Given the description of an element on the screen output the (x, y) to click on. 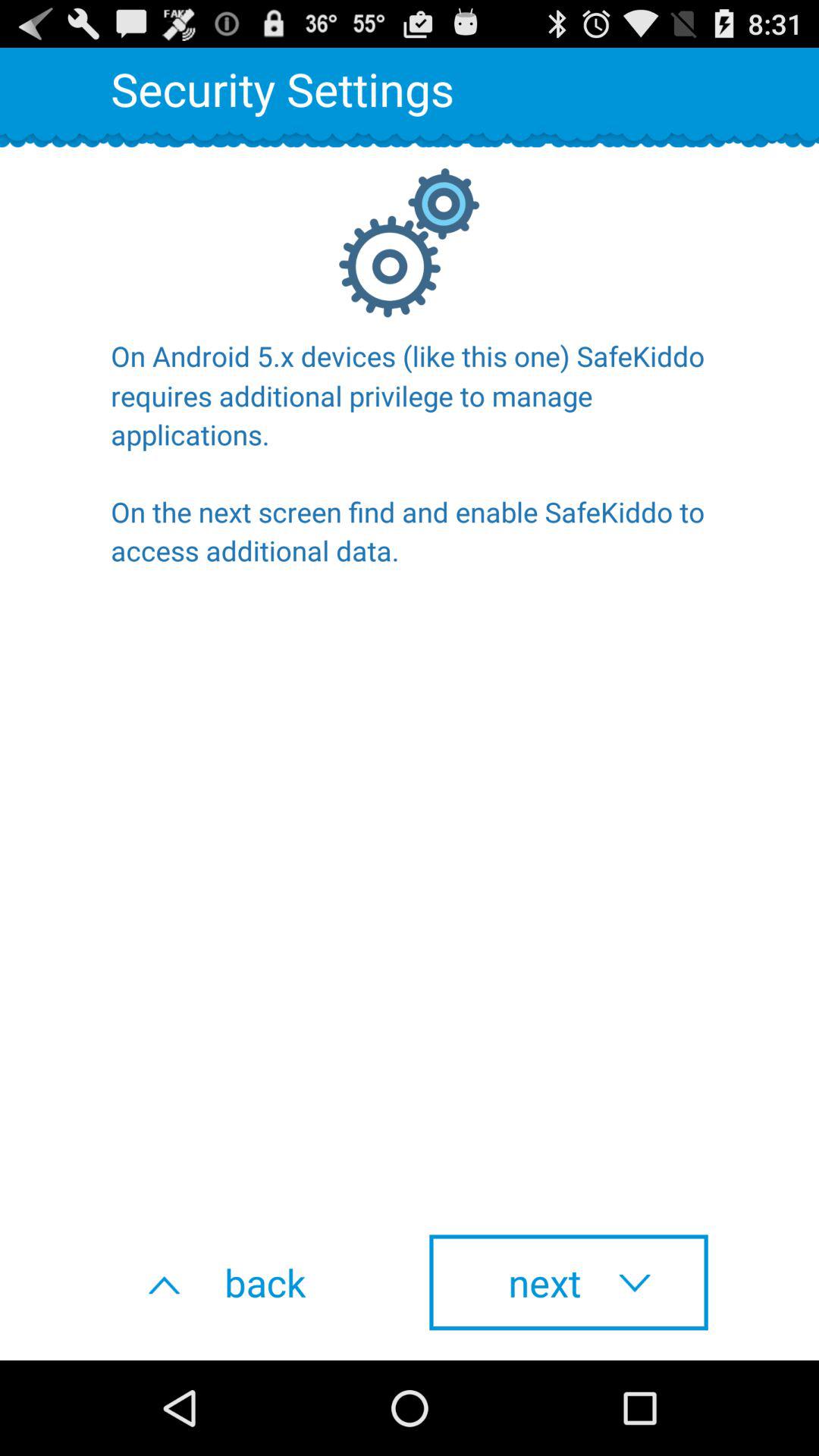
flip to back button (249, 1282)
